Given the description of an element on the screen output the (x, y) to click on. 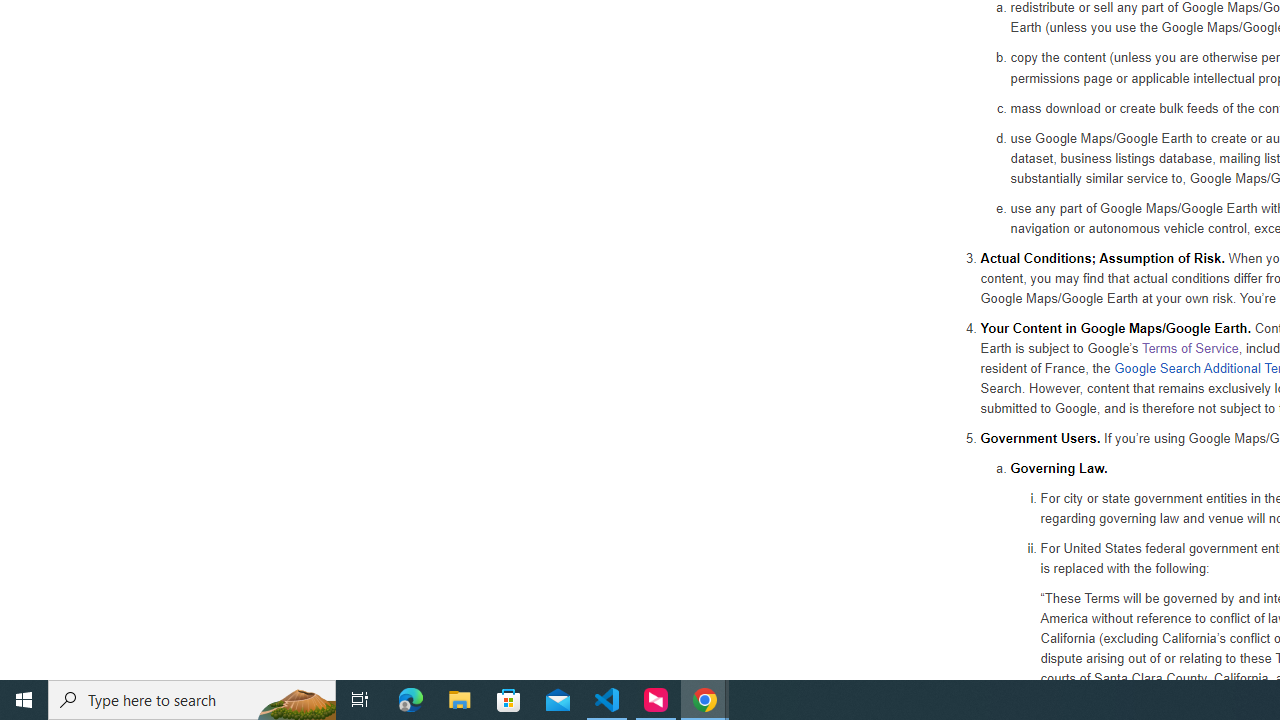
Terms of Service (1189, 347)
